Given the description of an element on the screen output the (x, y) to click on. 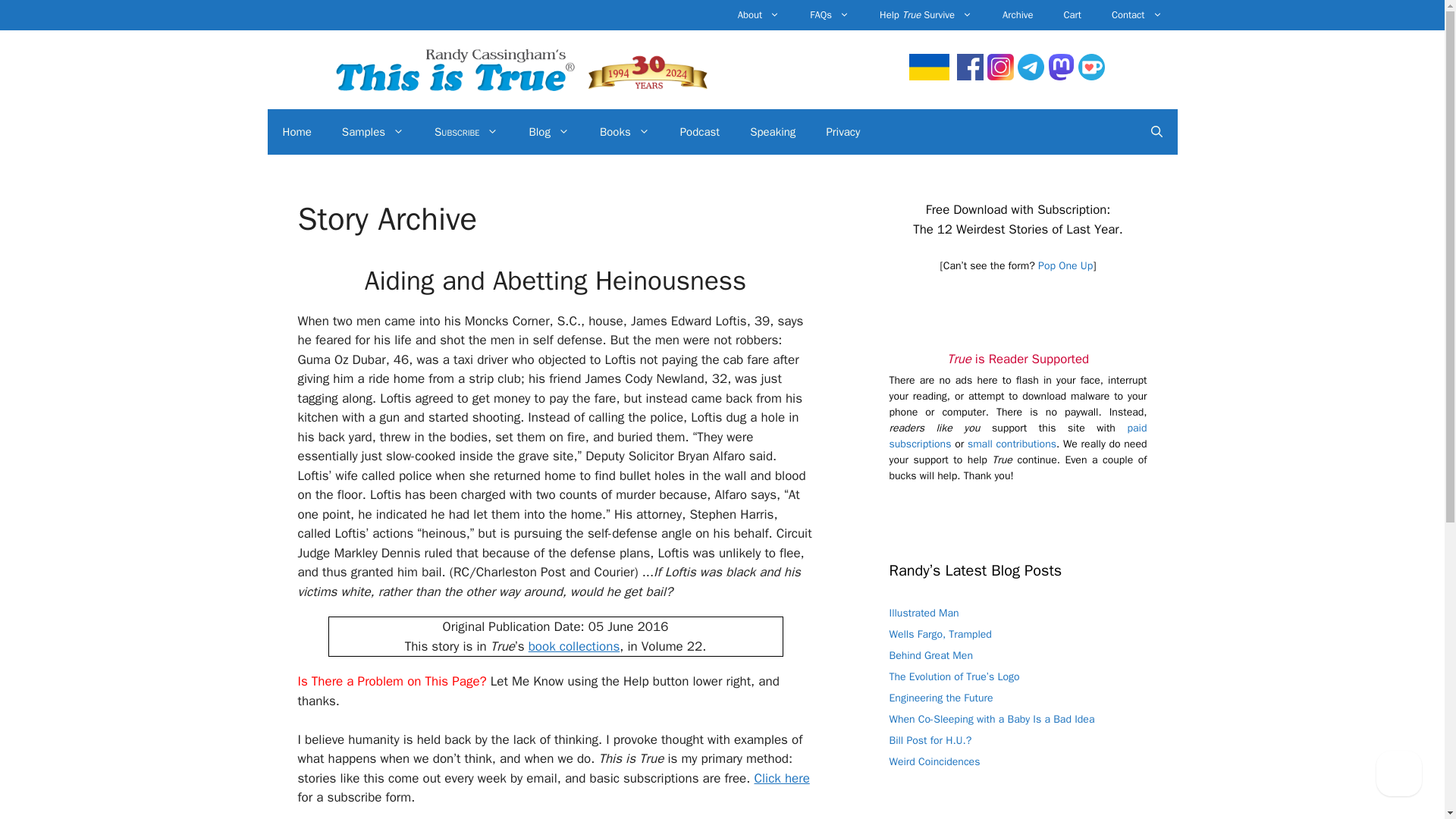
FAQs (829, 15)
Archive (1017, 15)
Home (296, 131)
TRUE on Instagram (1000, 75)
About (758, 15)
Support TRUE on Ko-Fi (1091, 75)
Contact (1136, 15)
Support TRUE on Ko-fi (1012, 443)
Help True Survive (925, 15)
TRUE on Telegram (1030, 75)
Cart (1072, 15)
Samples (372, 131)
TRUE supports Ukraine. (928, 75)
TRUE on Mastodon (1061, 75)
TRUE on Facebook (970, 75)
